Given the description of an element on the screen output the (x, y) to click on. 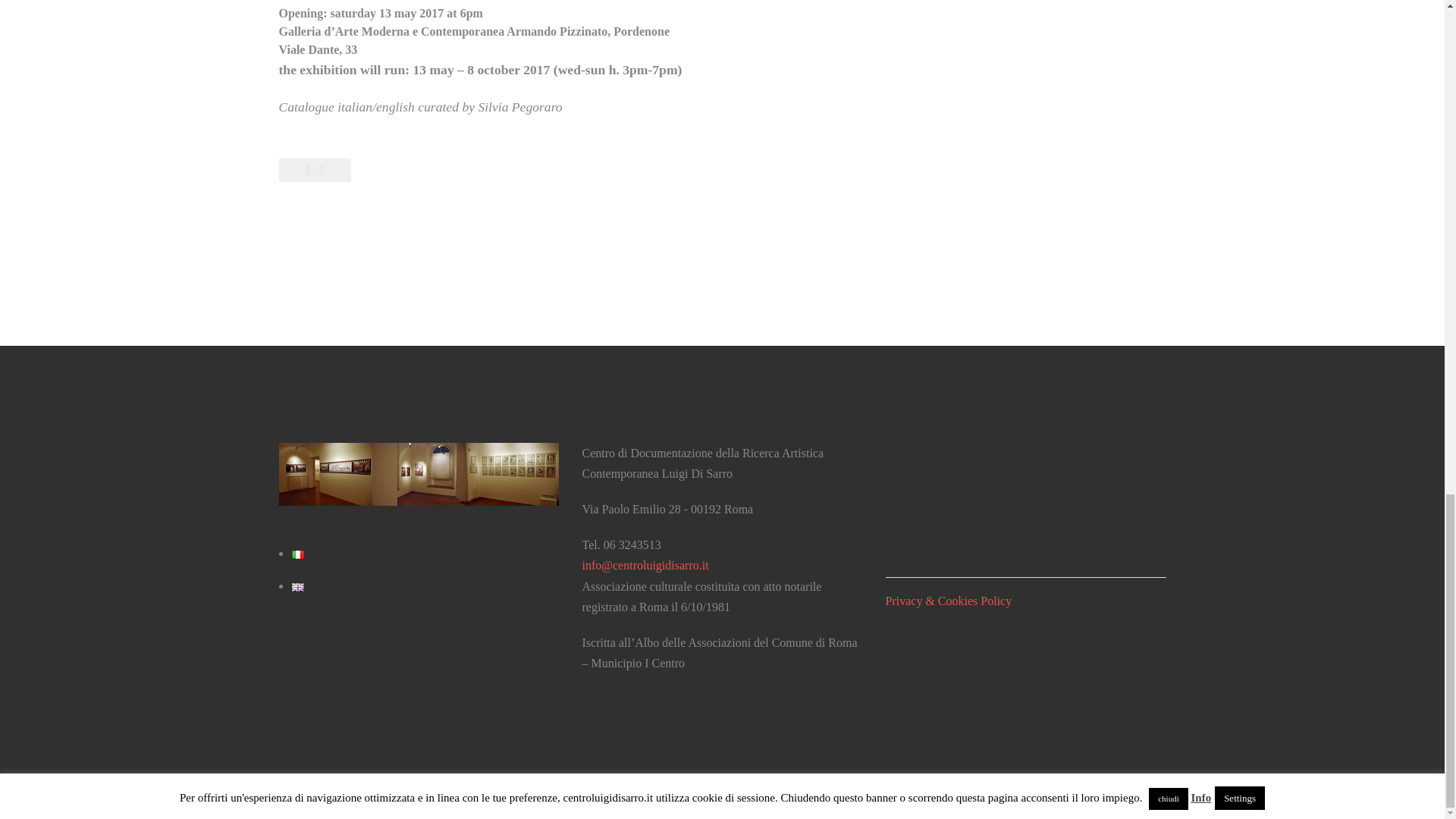
Page 2 (571, 49)
Page 2 (571, 13)
Page 2 (571, 88)
Page 2 (571, 31)
